Given the description of an element on the screen output the (x, y) to click on. 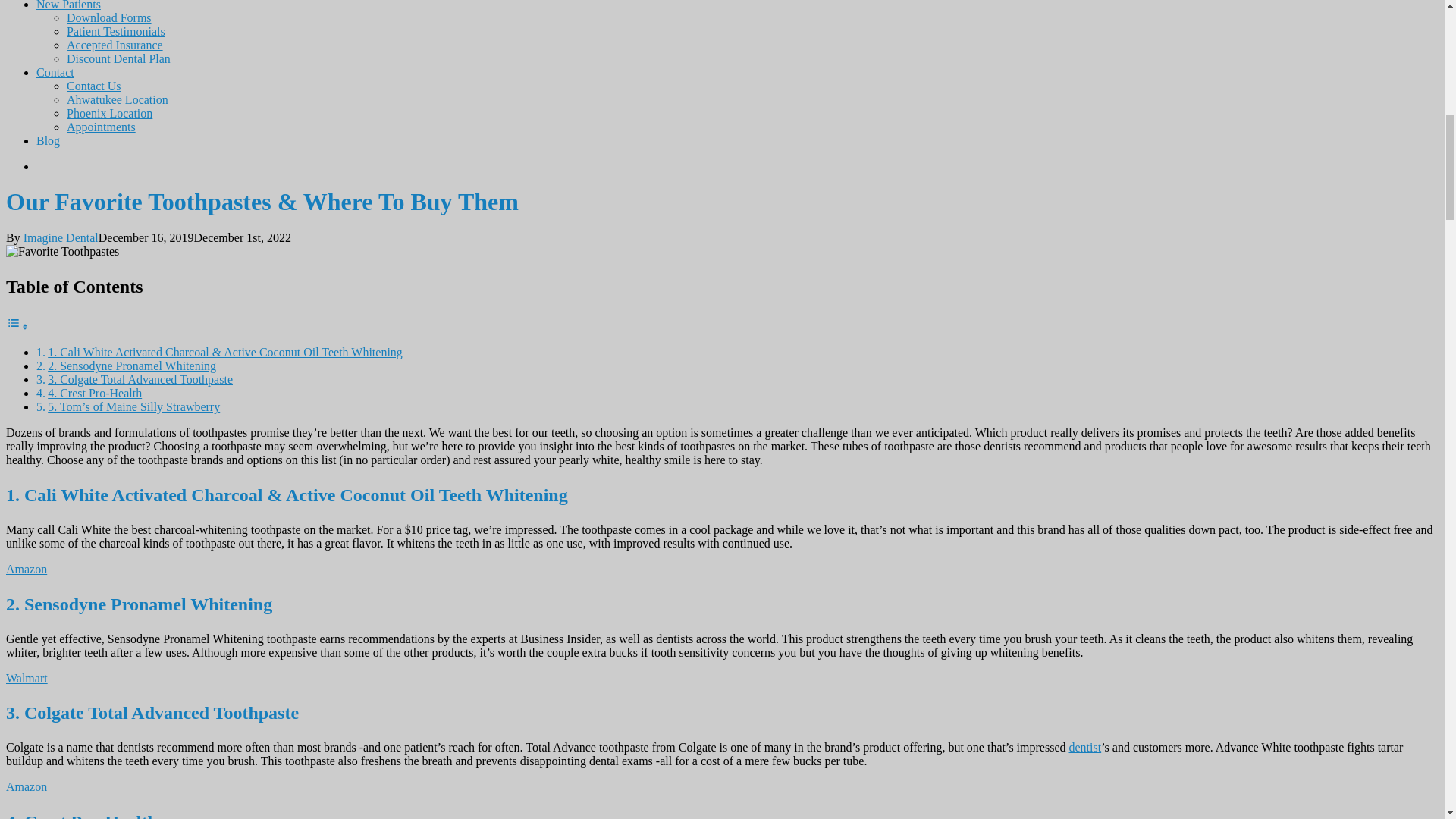
4. Crest Pro-Health (94, 392)
3. Colgate Total Advanced Toothpaste (140, 379)
2. Sensodyne Pronamel Whitening (131, 365)
Posts by Imagine Dental (61, 237)
Home (1084, 747)
